Given the description of an element on the screen output the (x, y) to click on. 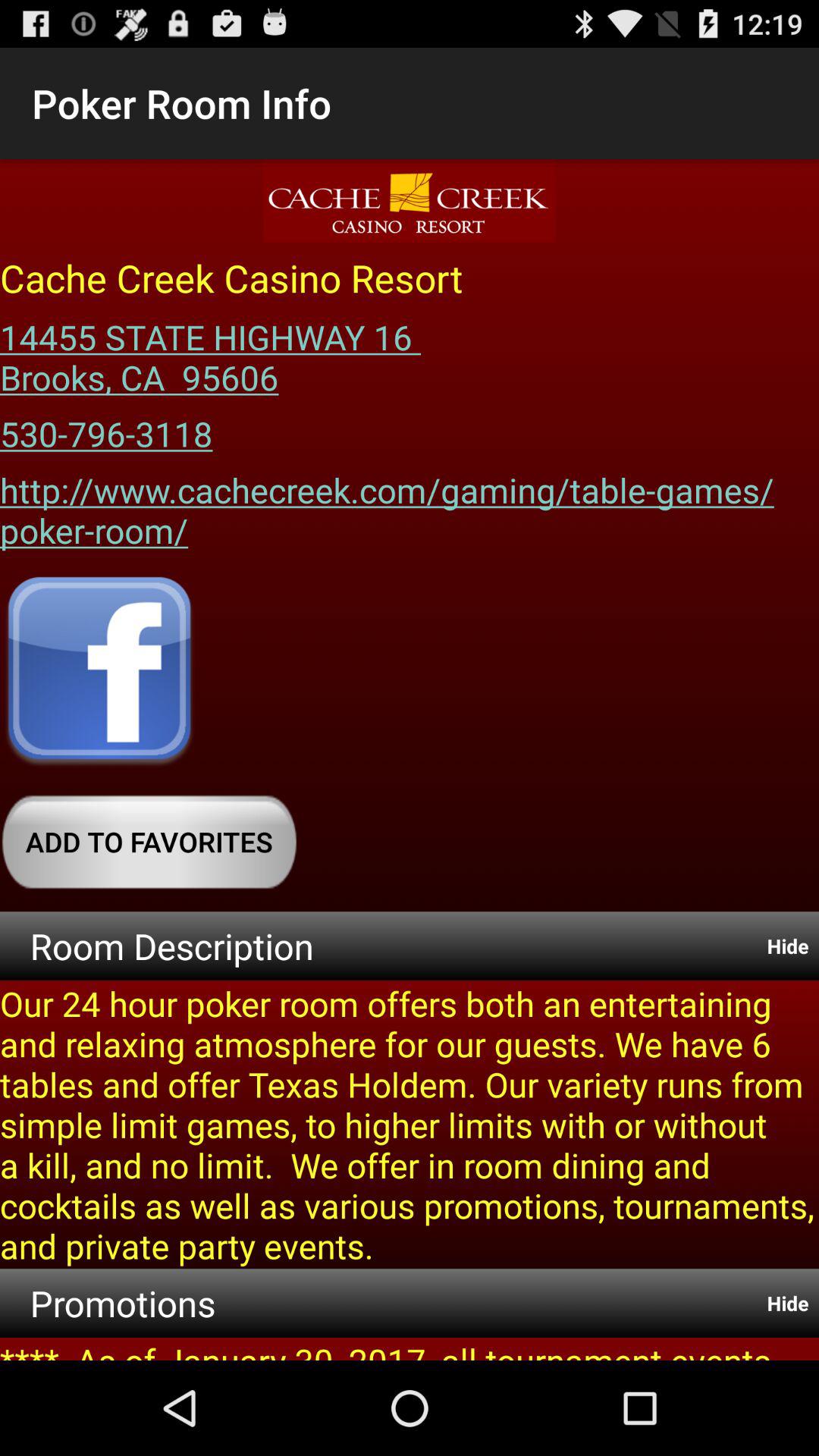
facebook (99, 672)
